Given the description of an element on the screen output the (x, y) to click on. 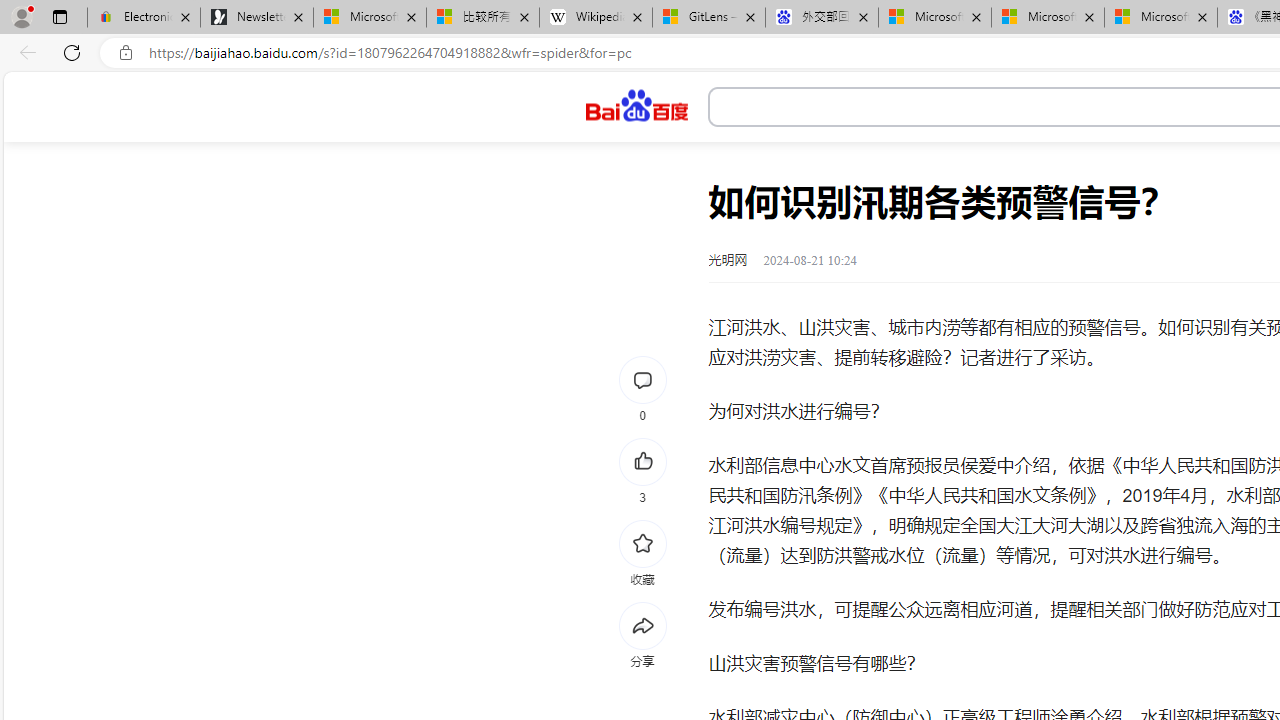
Wikipedia (595, 17)
